Given the description of an element on the screen output the (x, y) to click on. 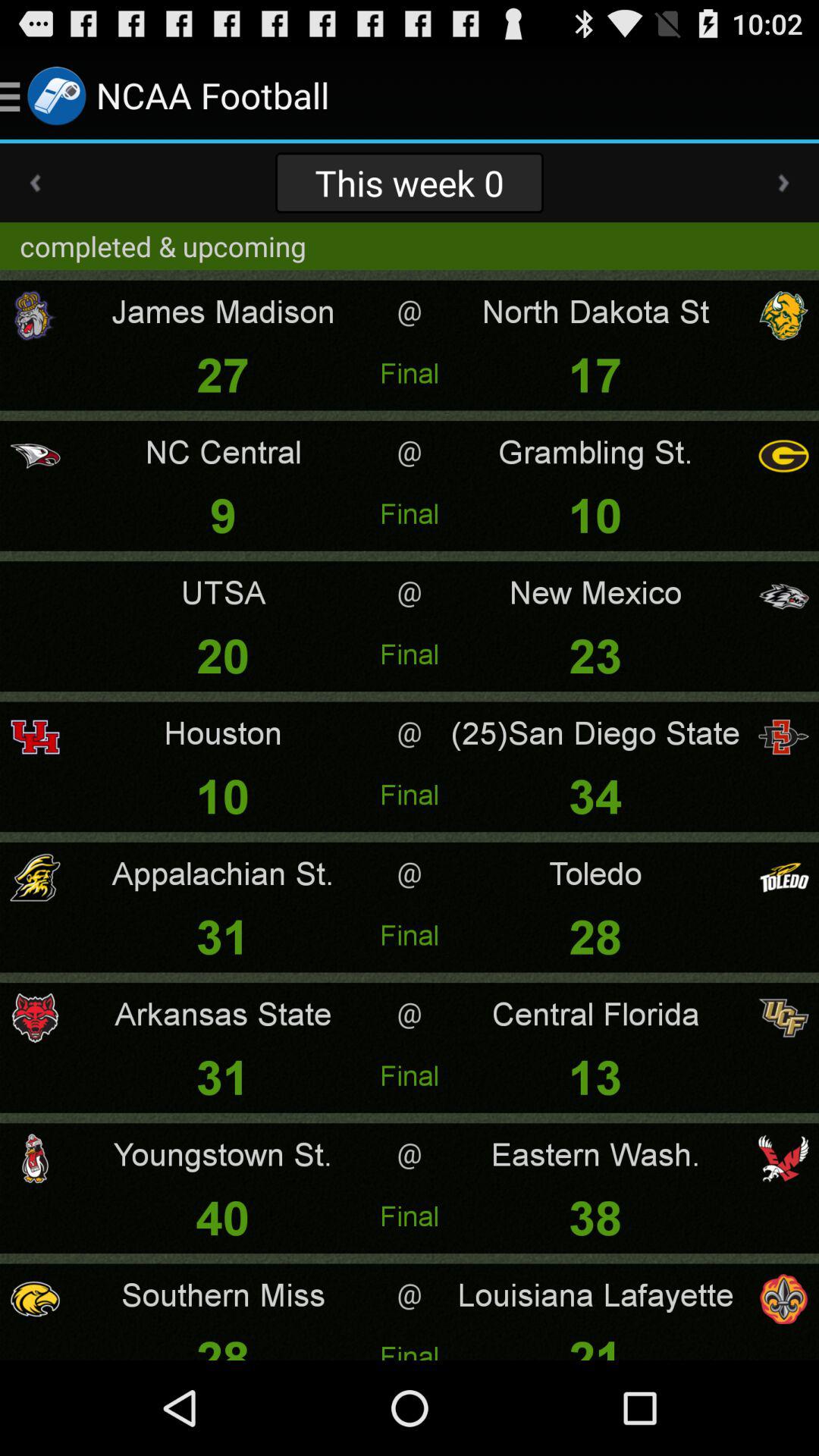
choose the app above the north dakota st item (783, 182)
